Given the description of an element on the screen output the (x, y) to click on. 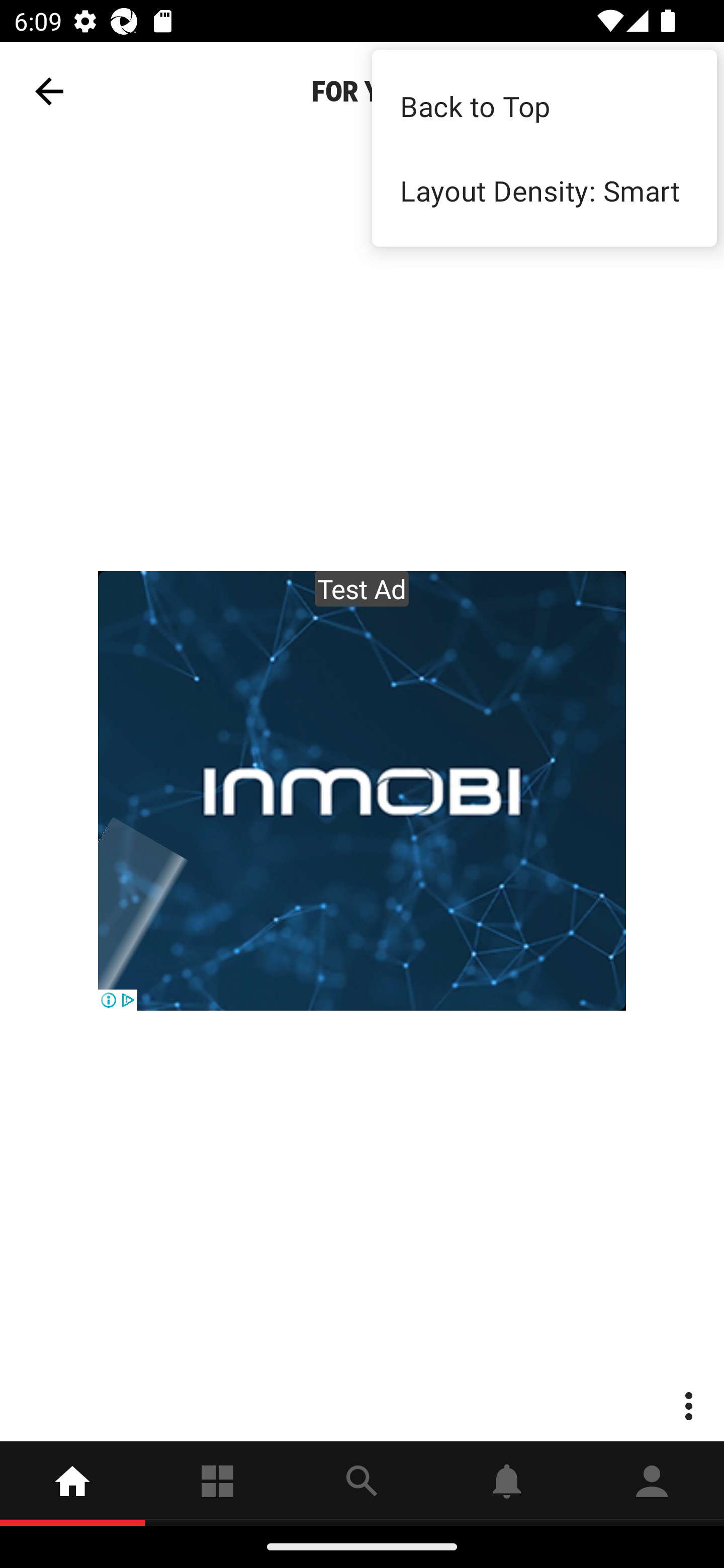
Back to Top (544, 106)
Layout Density: Smart (544, 190)
